Given the description of an element on the screen output the (x, y) to click on. 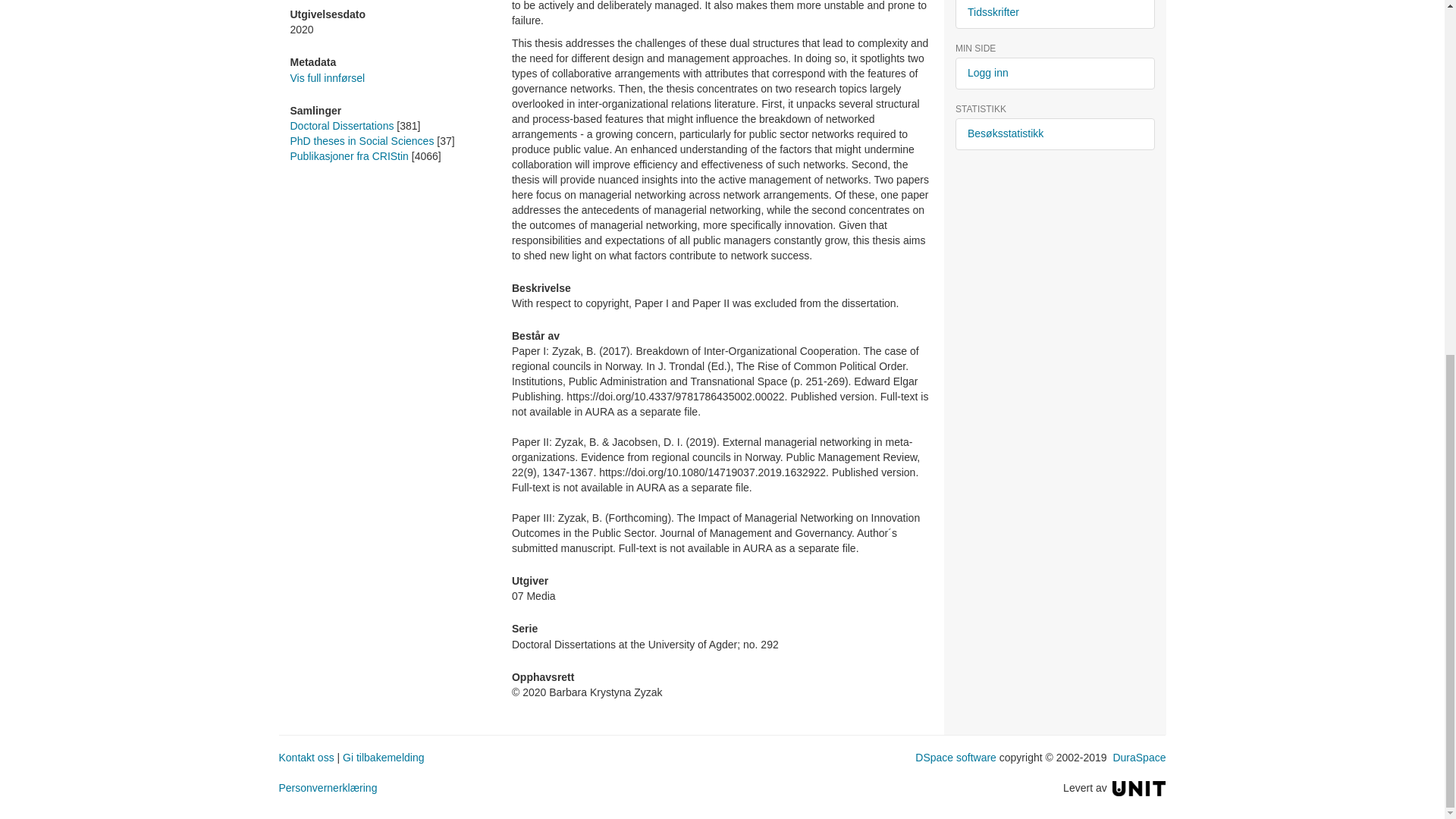
Doctoral Dissertations (341, 125)
Publikasjoner fra CRIStin (348, 155)
PhD theses in Social Sciences (361, 141)
Unit (1139, 787)
